Given the description of an element on the screen output the (x, y) to click on. 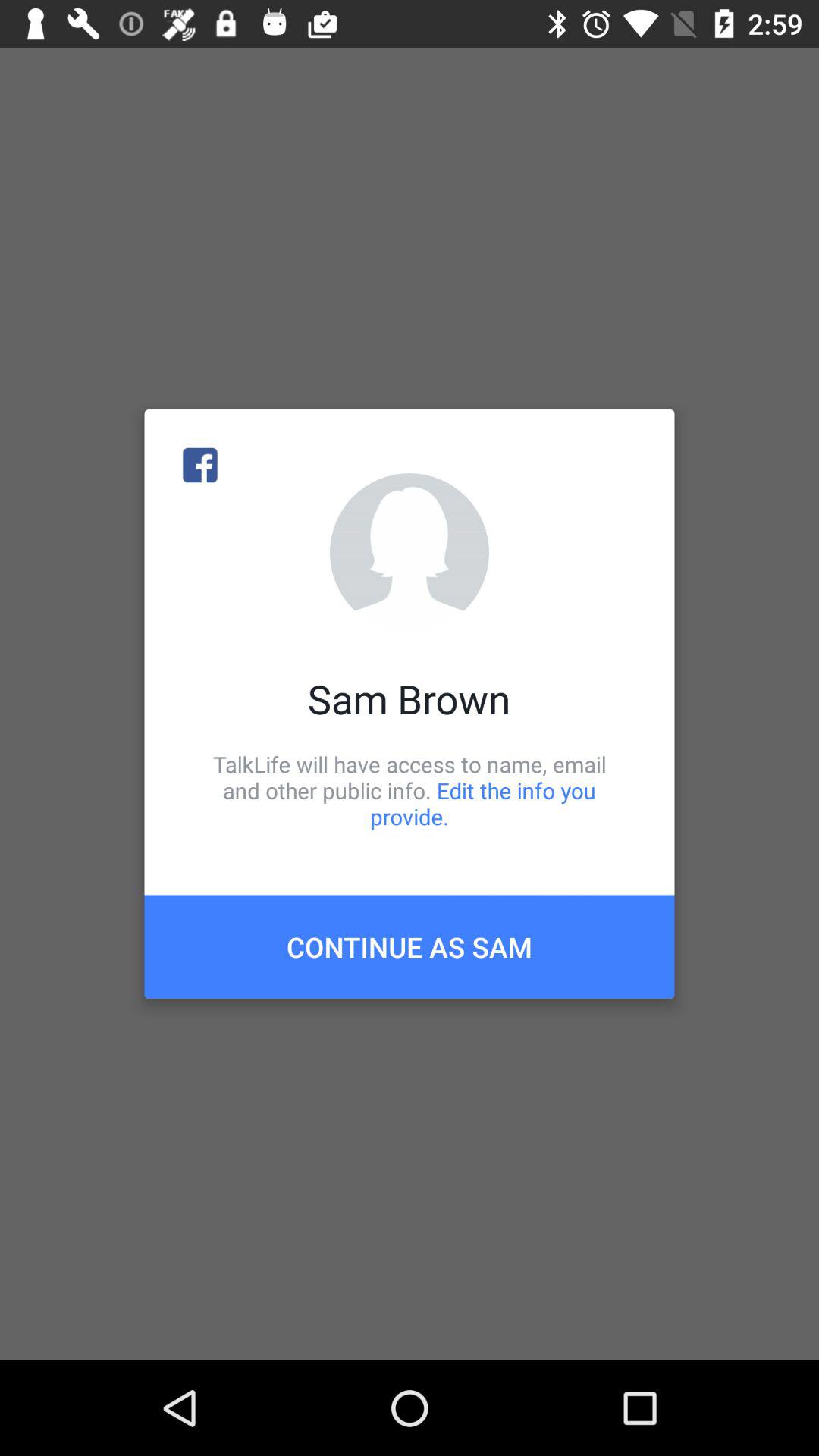
launch icon below the sam brown icon (409, 790)
